Given the description of an element on the screen output the (x, y) to click on. 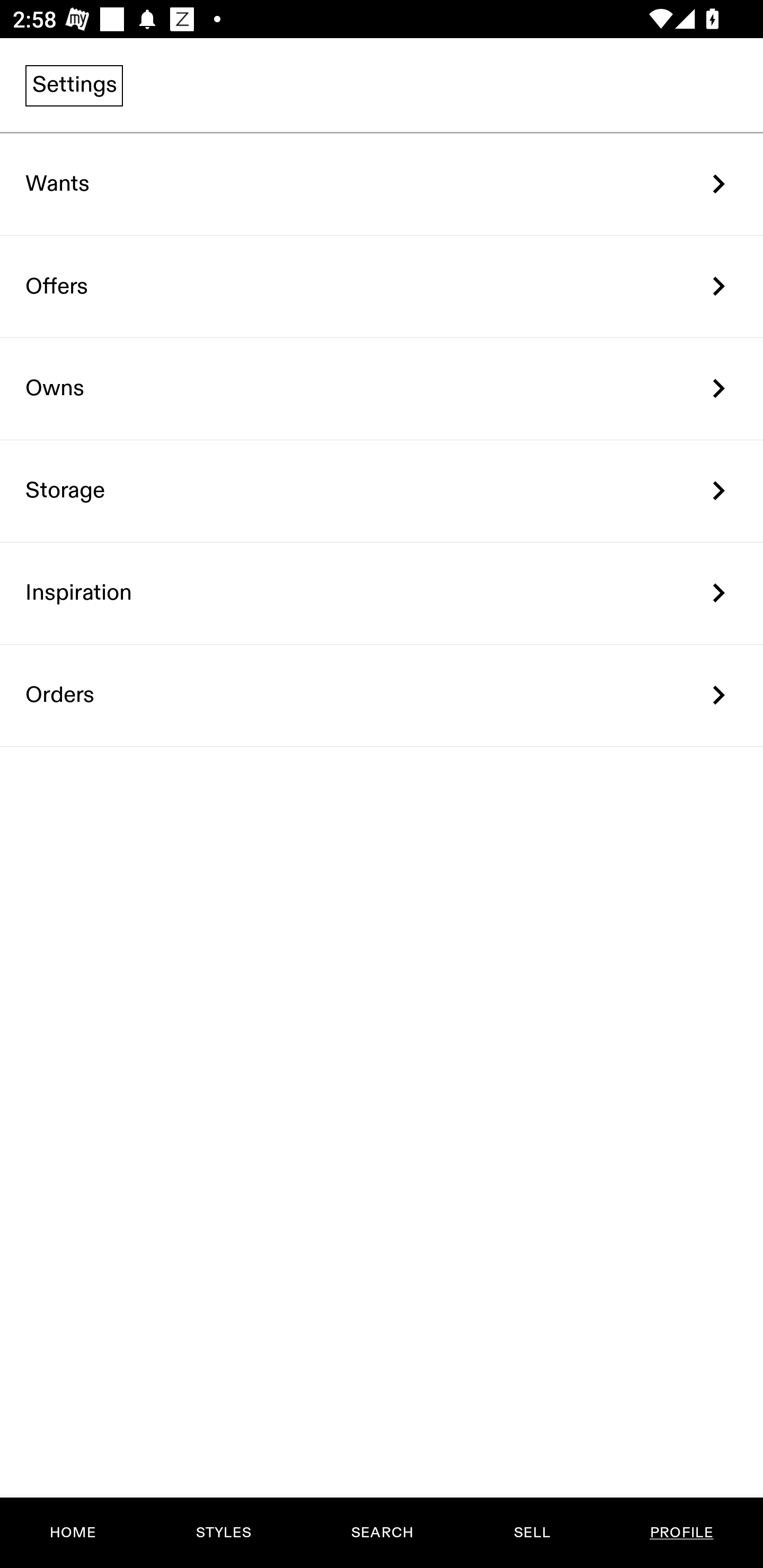
Settings (73, 85)
Wants (381, 184)
Offers (381, 286)
Owns (381, 388)
Storage (381, 491)
Inspiration (381, 593)
Orders (381, 695)
HOME (72, 1532)
STYLES (222, 1532)
SEARCH (381, 1532)
SELL (531, 1532)
PROFILE (681, 1532)
